Given the description of an element on the screen output the (x, y) to click on. 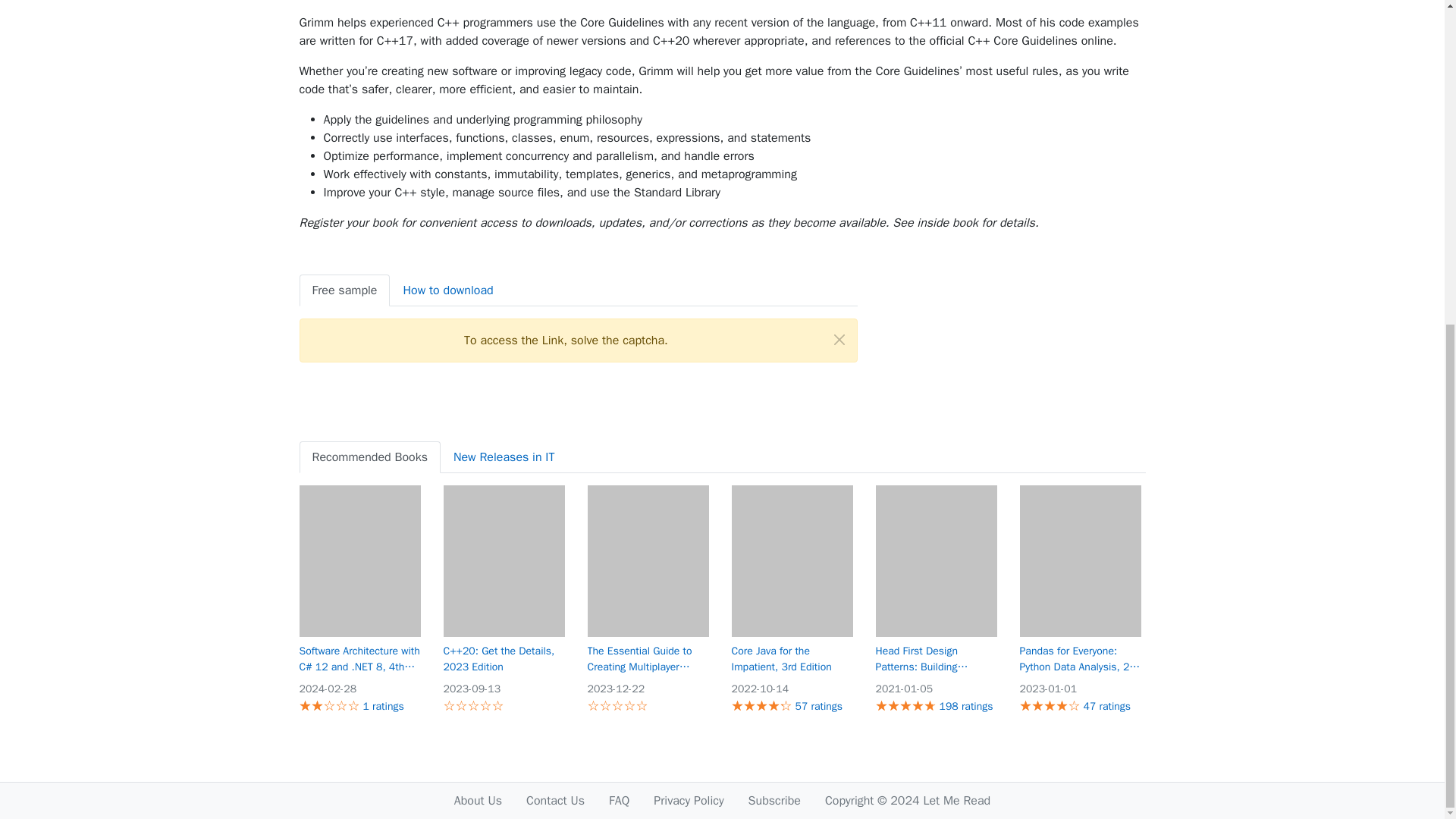
4 out of 5 Stars (1043, 705)
4.3 out of 5 Stars (756, 705)
2 out of 5 Stars (310, 705)
4.7 out of 5 Stars (903, 705)
